Given the description of an element on the screen output the (x, y) to click on. 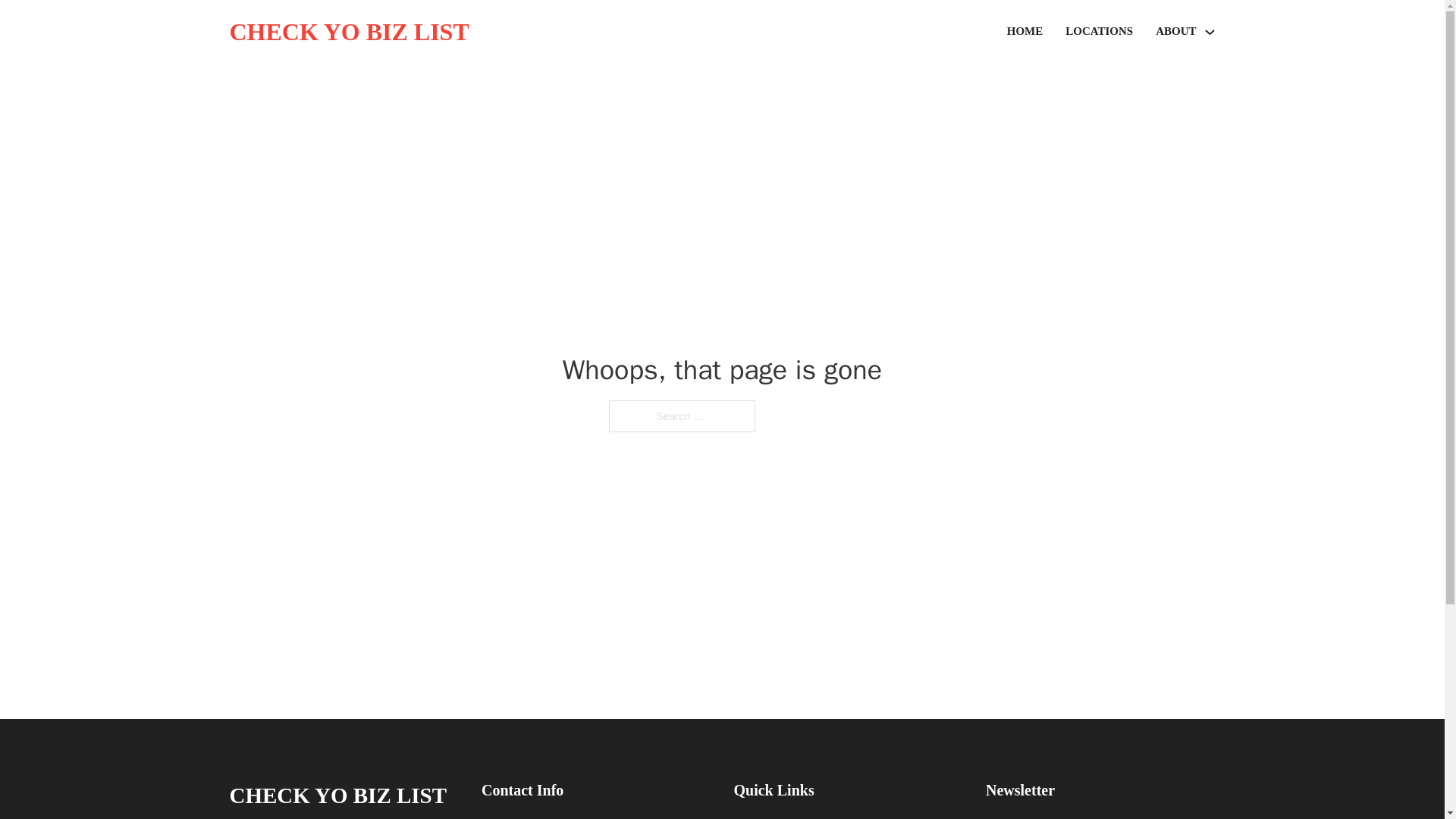
ABOUT (1175, 31)
LOCATIONS (1098, 31)
CHECK YO BIZ LIST (337, 795)
HOME (1025, 31)
CHECK YO BIZ LIST (348, 31)
